Given the description of an element on the screen output the (x, y) to click on. 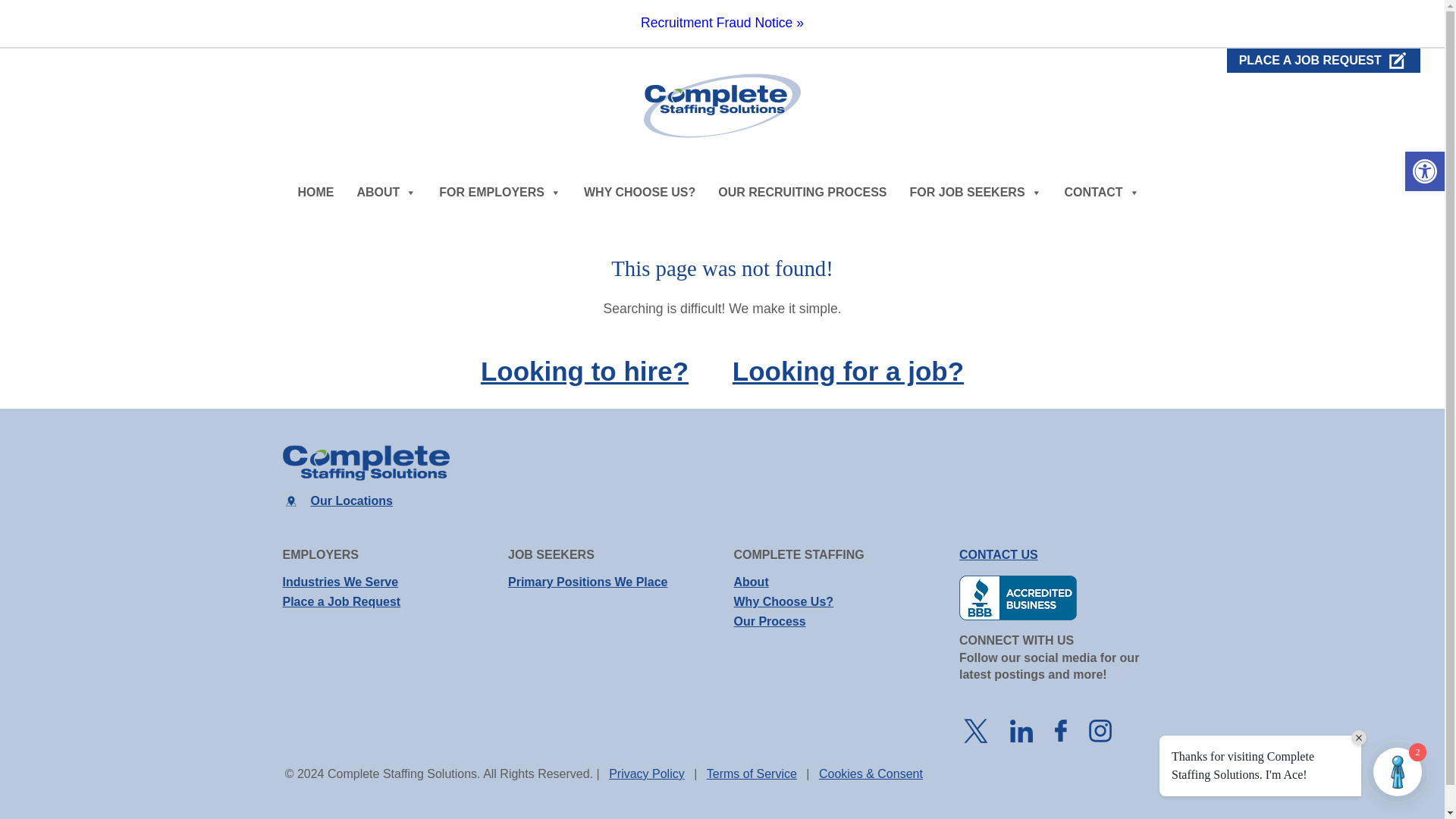
OUR RECRUITING PROCESS (801, 192)
ABOUT (386, 192)
FOR EMPLOYERS (499, 192)
Accessibility Tools (1424, 170)
PLACE A JOB REQUEST (1324, 60)
HOME (314, 192)
WHY CHOOSE US? (639, 192)
FOR JOB SEEKERS (975, 192)
2 (1397, 771)
